Given the description of an element on the screen output the (x, y) to click on. 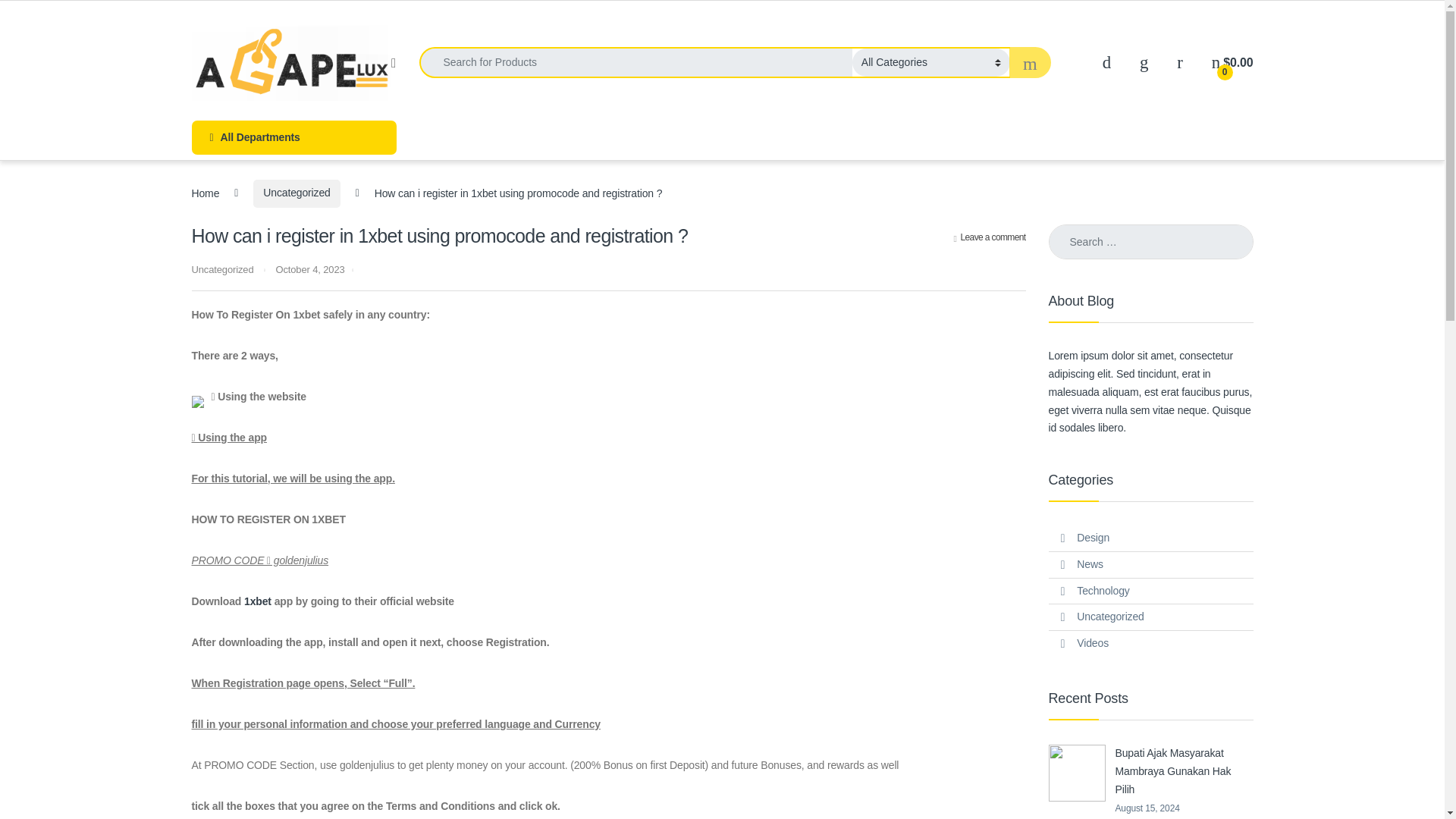
Design (1093, 538)
Uncategorized (296, 193)
All Departments (293, 137)
Leave a comment (989, 237)
Technology (1103, 591)
Search (29, 17)
Home (204, 192)
October 4, 2023 (309, 269)
Uncategorized (221, 269)
Uncategorized (1109, 616)
